Given the description of an element on the screen output the (x, y) to click on. 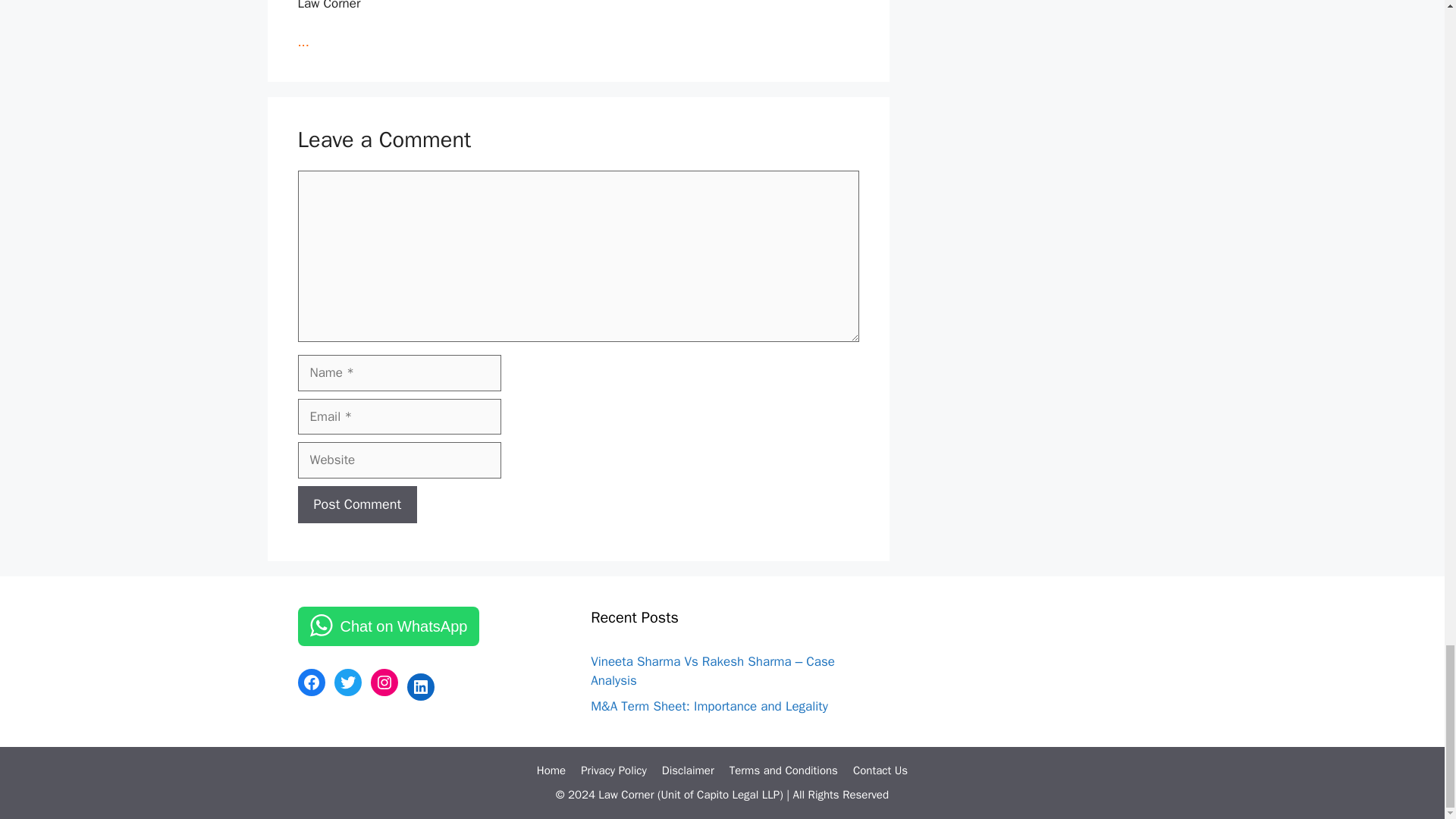
Post Comment (356, 504)
